Given the description of an element on the screen output the (x, y) to click on. 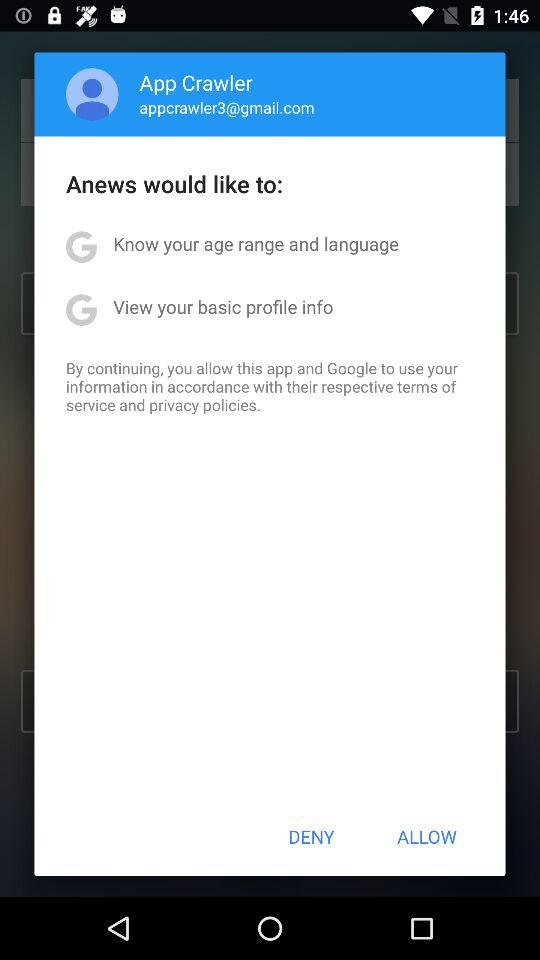
tap the app next to the app crawler (92, 94)
